Given the description of an element on the screen output the (x, y) to click on. 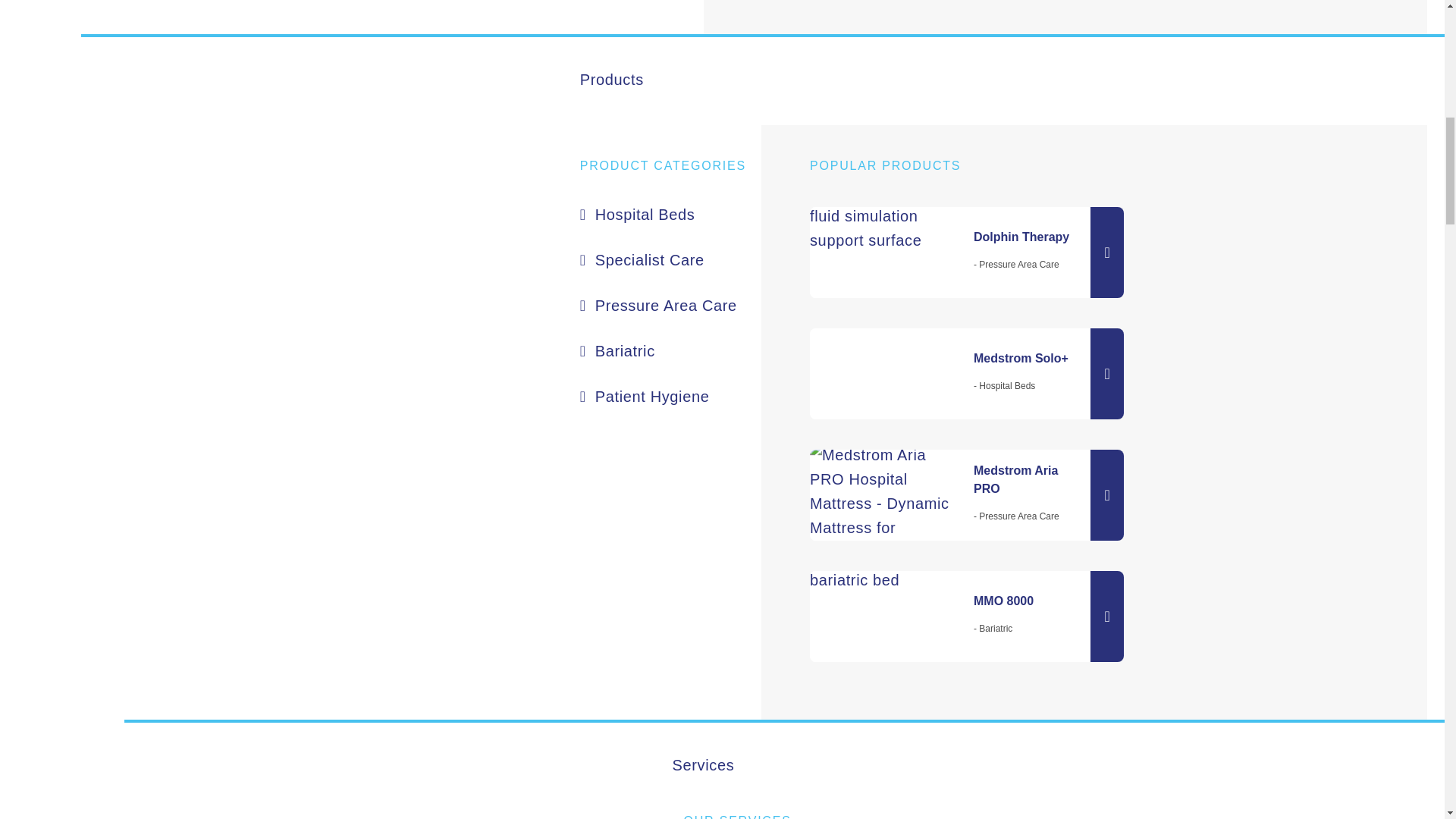
Pressure Area Care (670, 305)
Bariatric (670, 350)
Products (851, 80)
PRODUCT CATEGORIES (670, 165)
Patient Hygiene (670, 396)
Medstrom (372, 248)
Hospital Beds (670, 214)
Specialist Care (670, 259)
